Given the description of an element on the screen output the (x, y) to click on. 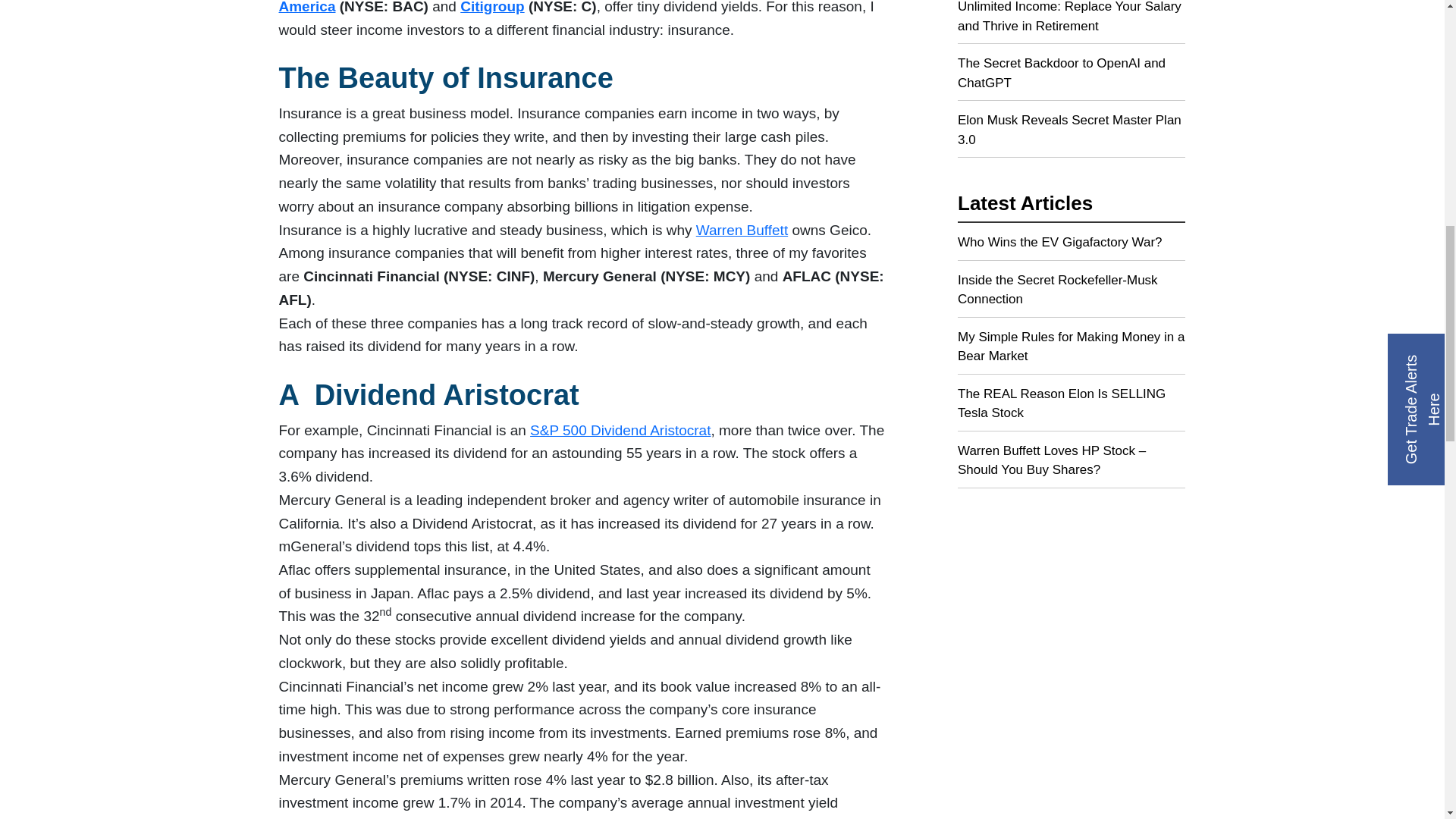
The Secret Backdoor to OpenAI and ChatGPT (1071, 77)
Who Wins the EV Gigafactory War? (1071, 246)
Warren Buffett (741, 229)
Bank of America (571, 7)
Elon Musk Reveals Secret Master Plan 3.0 (1071, 134)
Citigroup (492, 7)
